Given the description of an element on the screen output the (x, y) to click on. 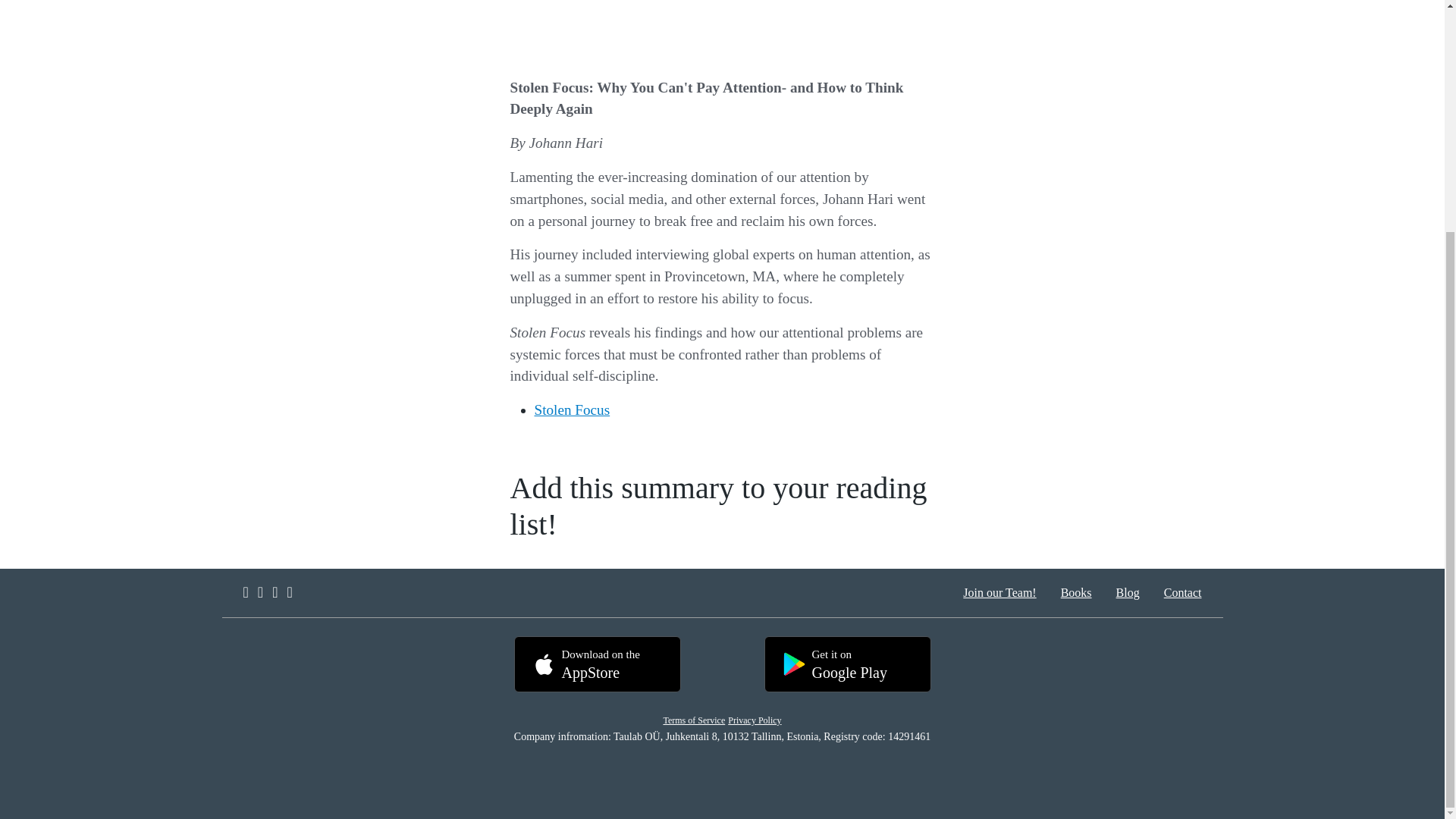
Terms of Service (596, 664)
Join our Team! (693, 719)
Blog (999, 592)
Contact (1127, 592)
Privacy Policy (1182, 592)
Books (754, 719)
Stolen Focus (1075, 592)
